Given the description of an element on the screen output the (x, y) to click on. 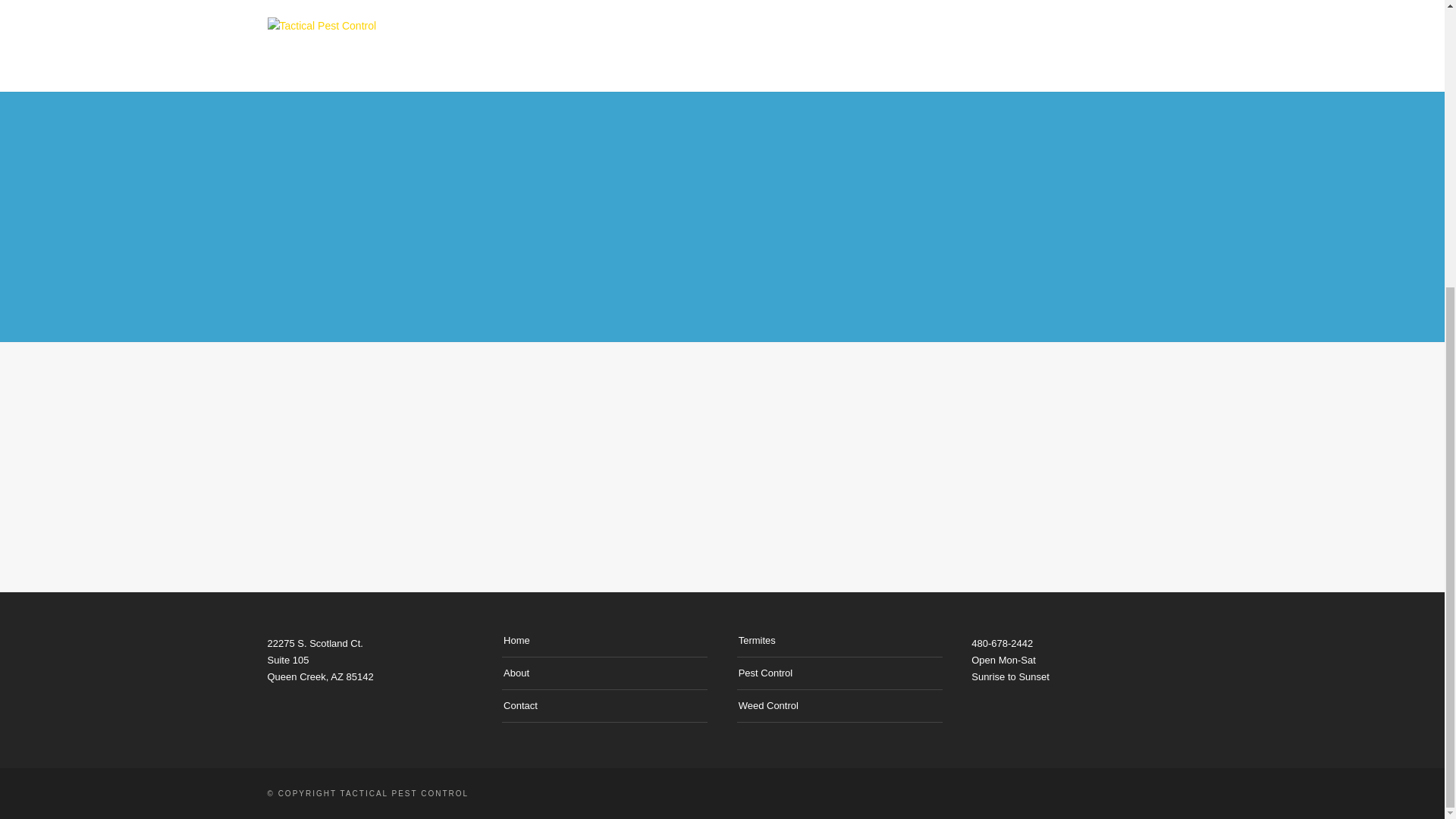
Termites (757, 640)
Contact (520, 705)
Pest Control (765, 672)
About (516, 672)
Home (516, 640)
Weed Control (767, 705)
